Given the description of an element on the screen output the (x, y) to click on. 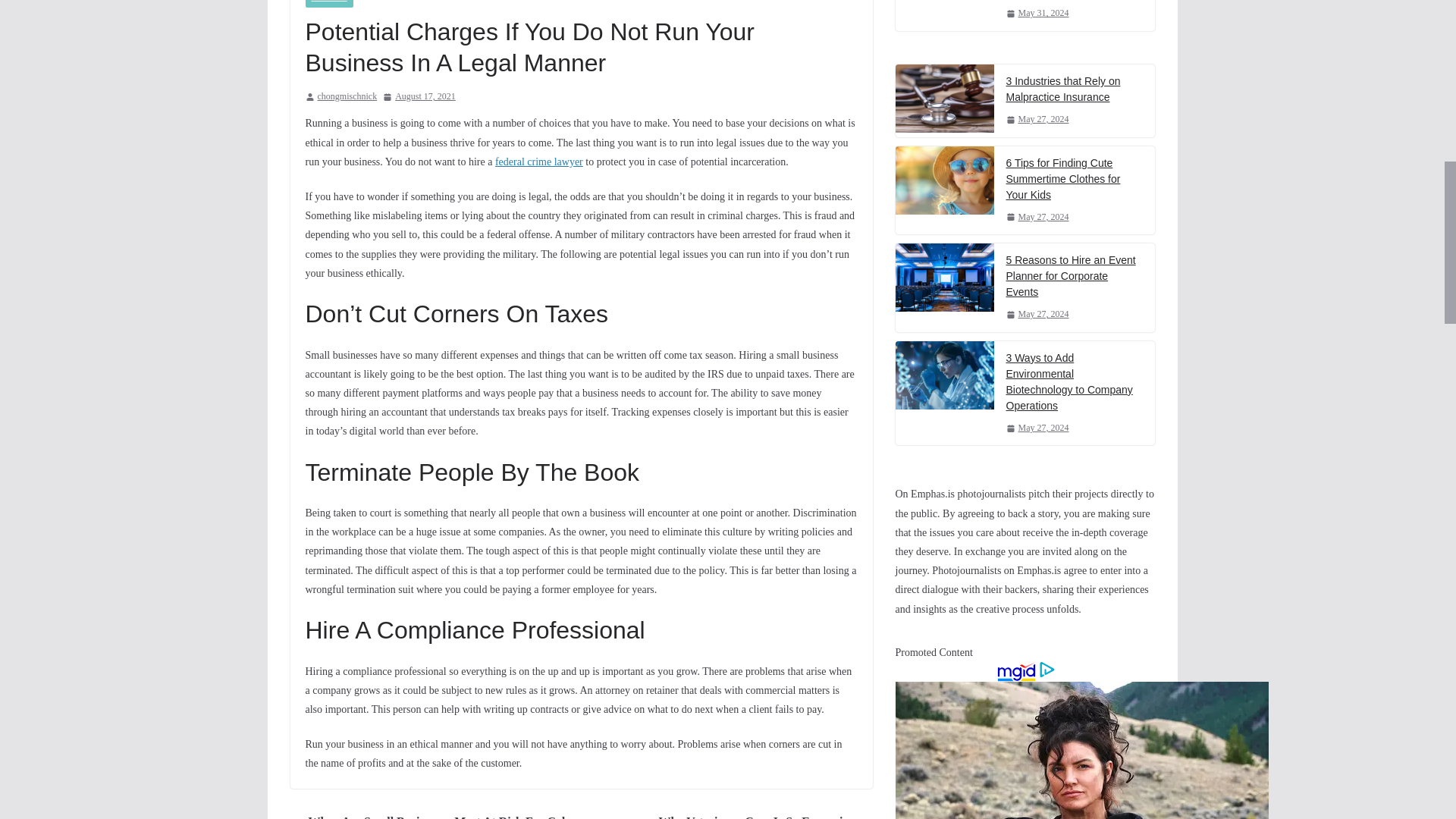
August 17, 2021 (418, 96)
Why Veterinary Care Is So Expensive (765, 815)
2:56 pm (418, 96)
chongmischnick (347, 96)
federal crime lawyer (539, 161)
When Are Small Businesses Most At Risk For Cyber Attacks? (431, 815)
BUSINESS (328, 3)
chongmischnick (347, 96)
